Given the description of an element on the screen output the (x, y) to click on. 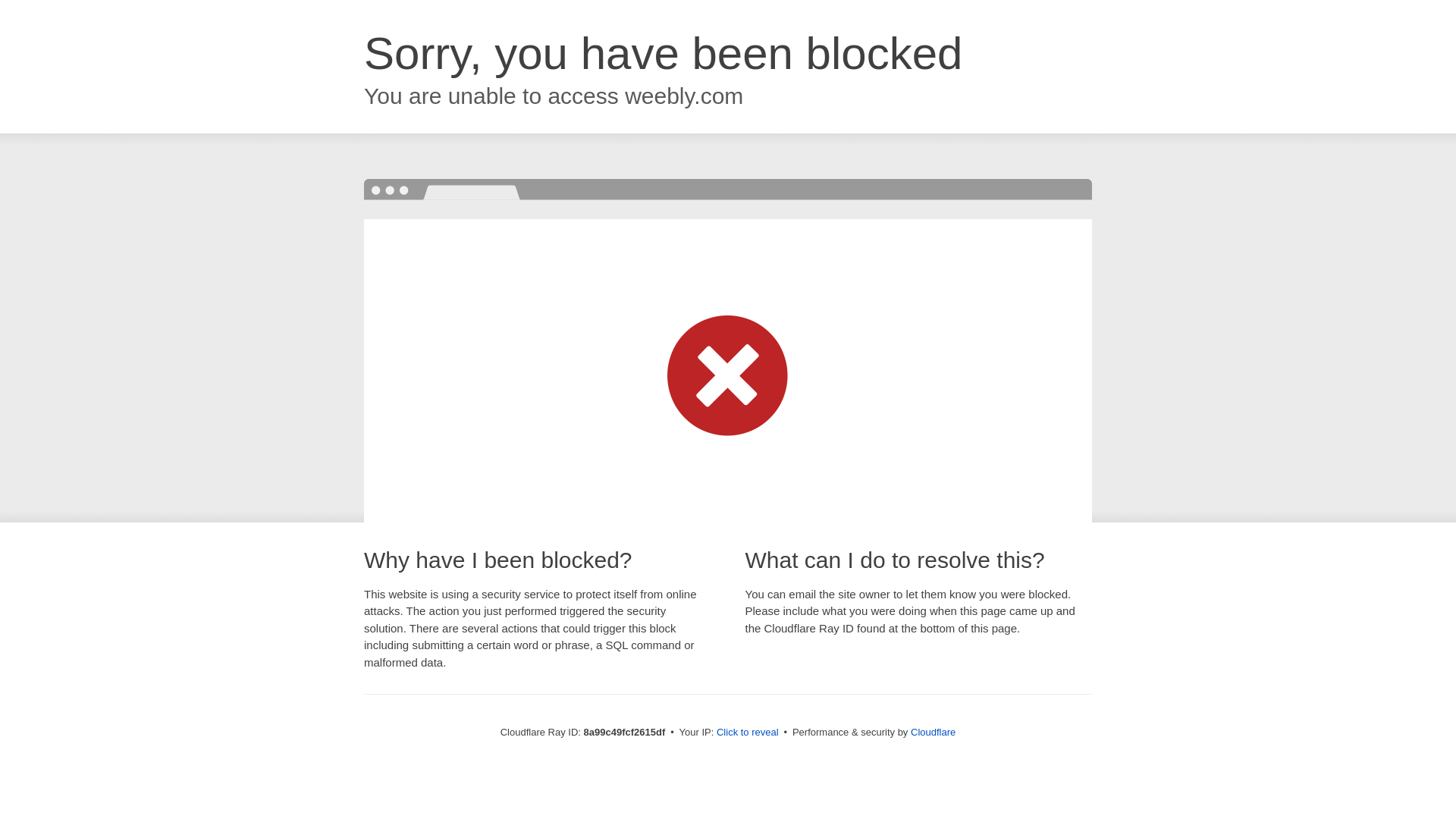
Click to reveal (747, 732)
Cloudflare (933, 731)
